Given the description of an element on the screen output the (x, y) to click on. 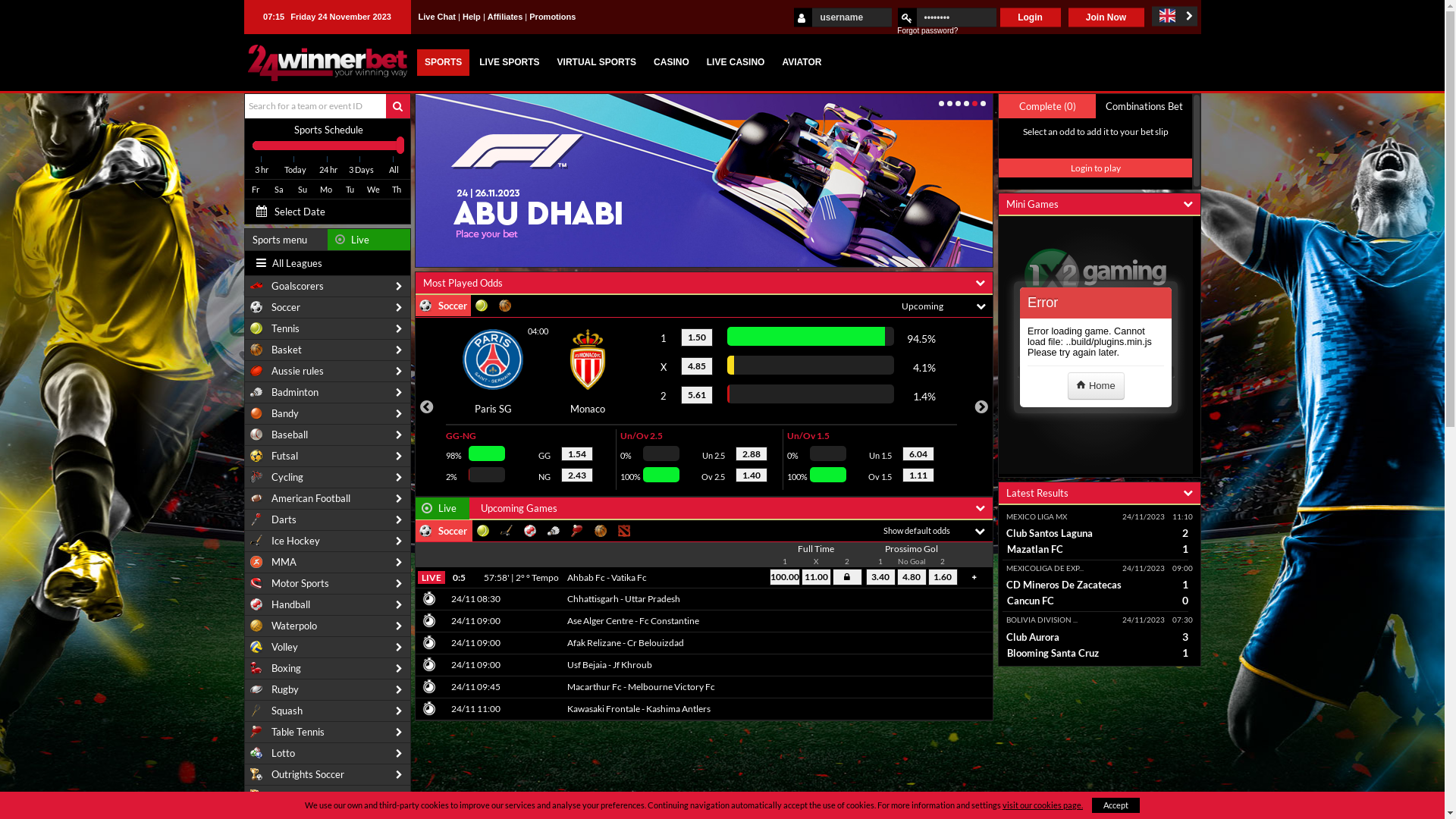
Futsal Element type: text (326, 456)
Ice Hockey Element type: text (326, 541)
3.40 Element type: text (880, 576)
1.11 Element type: text (918, 474)
Motor Sports Element type: text (326, 583)
100.00 Element type: text (784, 576)
Upcoming Games Element type: text (517, 508)
Lotto Element type: text (326, 753)
Esports Dota Element type: text (624, 530)
Handball Element type: text (530, 530)
Table Tennis Element type: text (326, 732)
Outrights Soccer Element type: text (326, 774)
All Leagues Element type: text (286, 263)
Volley Element type: text (326, 647)
Tennis Element type: text (326, 328)
Th Element type: text (396, 188)
Login Element type: text (1029, 16)
SPORTS Element type: text (443, 62)
2 Element type: text (948, 103)
Tu Element type: text (349, 188)
AVIATOR Element type: text (801, 62)
Badminton Element type: text (326, 392)
We Element type: text (373, 188)
Su Element type: text (302, 188)
LIVE SPORTS Element type: text (508, 62)
6 Element type: text (982, 103)
5 Element type: text (974, 103)
Basket Element type: text (326, 349)
Soccer Element type: text (326, 307)
CASINO Element type: text (671, 62)
Promotions Element type: text (552, 17)
Soccer Element type: text (442, 530)
Join Now Element type: text (1105, 16)
Badminton Element type: text (553, 530)
Boxing Element type: text (326, 668)
Live Chat Element type: text (437, 17)
Live Element type: text (441, 508)
Bandy Element type: text (326, 413)
Table Tennis Element type: text (577, 530)
Baseball Element type: text (326, 434)
6.04 Element type: text (918, 453)
Fr Element type: text (255, 188)
3 Element type: text (957, 103)
2.43 Element type: text (577, 474)
Outrights Tennis Element type: text (326, 795)
4.80 Element type: text (911, 576)
Tennis Element type: text (483, 530)
visit our cookies page. Element type: text (1042, 804)
11.00 Element type: text (816, 576)
Accept Element type: text (1115, 804)
Cycling Element type: text (326, 477)
Live Element type: text (368, 239)
Rugby Element type: text (326, 689)
1.54 Element type: text (577, 453)
Help Element type: text (471, 17)
1.60 Element type: text (942, 576)
Waterpolo Element type: text (326, 626)
Forgot password? Element type: text (927, 30)
Ice Hockey Element type: text (506, 530)
1 Element type: text (941, 103)
Sa Element type: text (279, 188)
Handball Element type: text (326, 604)
Basket Element type: text (600, 530)
Affiliates Element type: text (504, 17)
Darts Element type: text (326, 519)
MMA Element type: text (326, 562)
American Football Element type: text (326, 498)
Squash Element type: text (326, 710)
Goalscorers Element type: text (326, 286)
1.40 Element type: text (751, 474)
Aussie rules Element type: text (326, 371)
LIVE 0:5 Element type: text (449, 577)
Select Date Element type: text (303, 211)
LIVE CASINO Element type: text (735, 62)
Search for a team or event ID Element type: text (317, 105)
2.88 Element type: text (751, 453)
Mo Element type: text (326, 188)
5.61 Element type: text (696, 394)
1.50 Element type: text (696, 337)
VIRTUAL SPORTS Element type: text (596, 62)
4 Element type: text (965, 103)
4.85 Element type: text (696, 366)
